Given the description of an element on the screen output the (x, y) to click on. 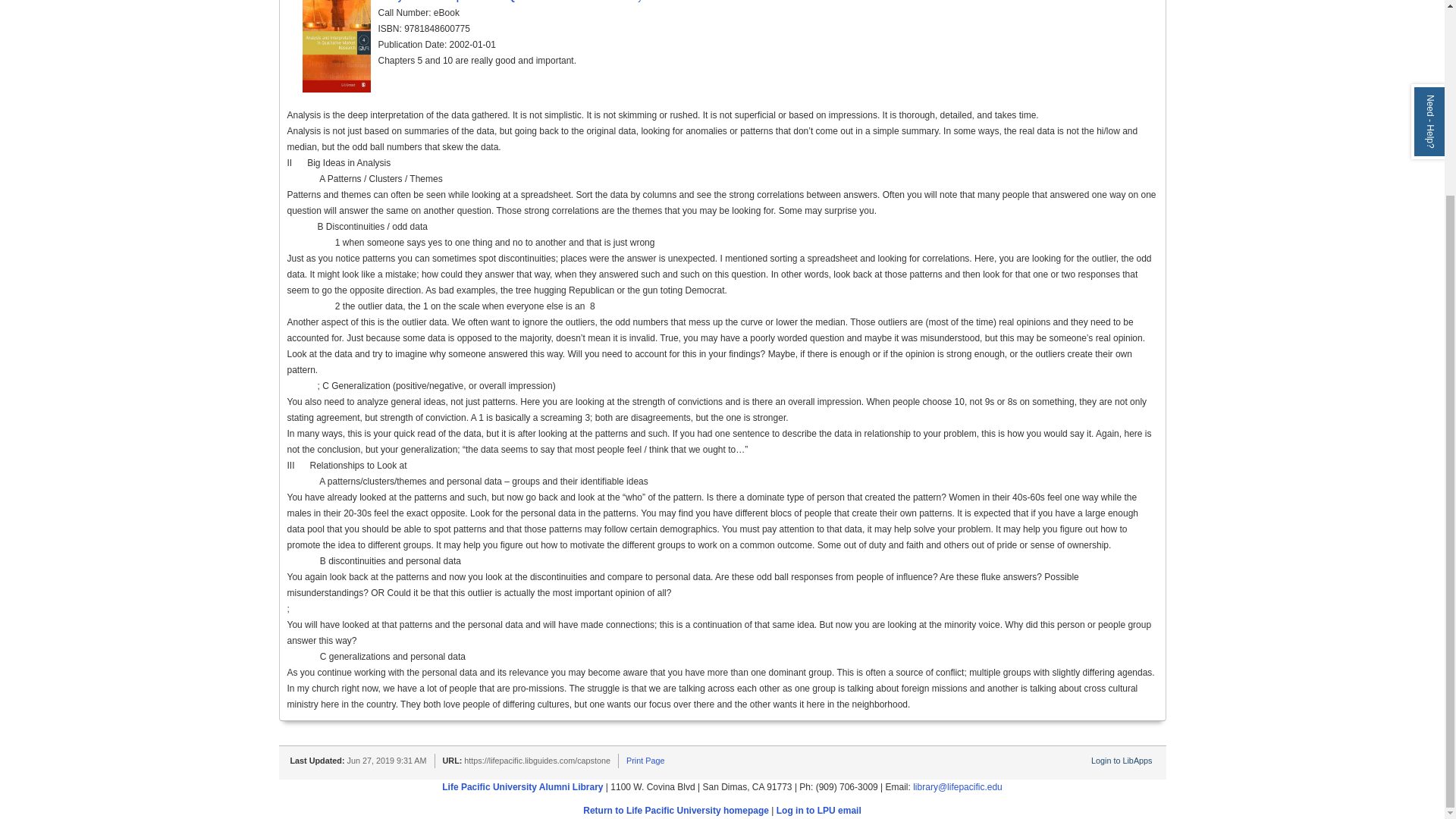
Print Page (644, 759)
Login to LibApps (1120, 759)
Return to Life Pacific University homepage (675, 810)
Log in to LPU email (818, 810)
Life Pacific University Alumni Library (522, 787)
